Given the description of an element on the screen output the (x, y) to click on. 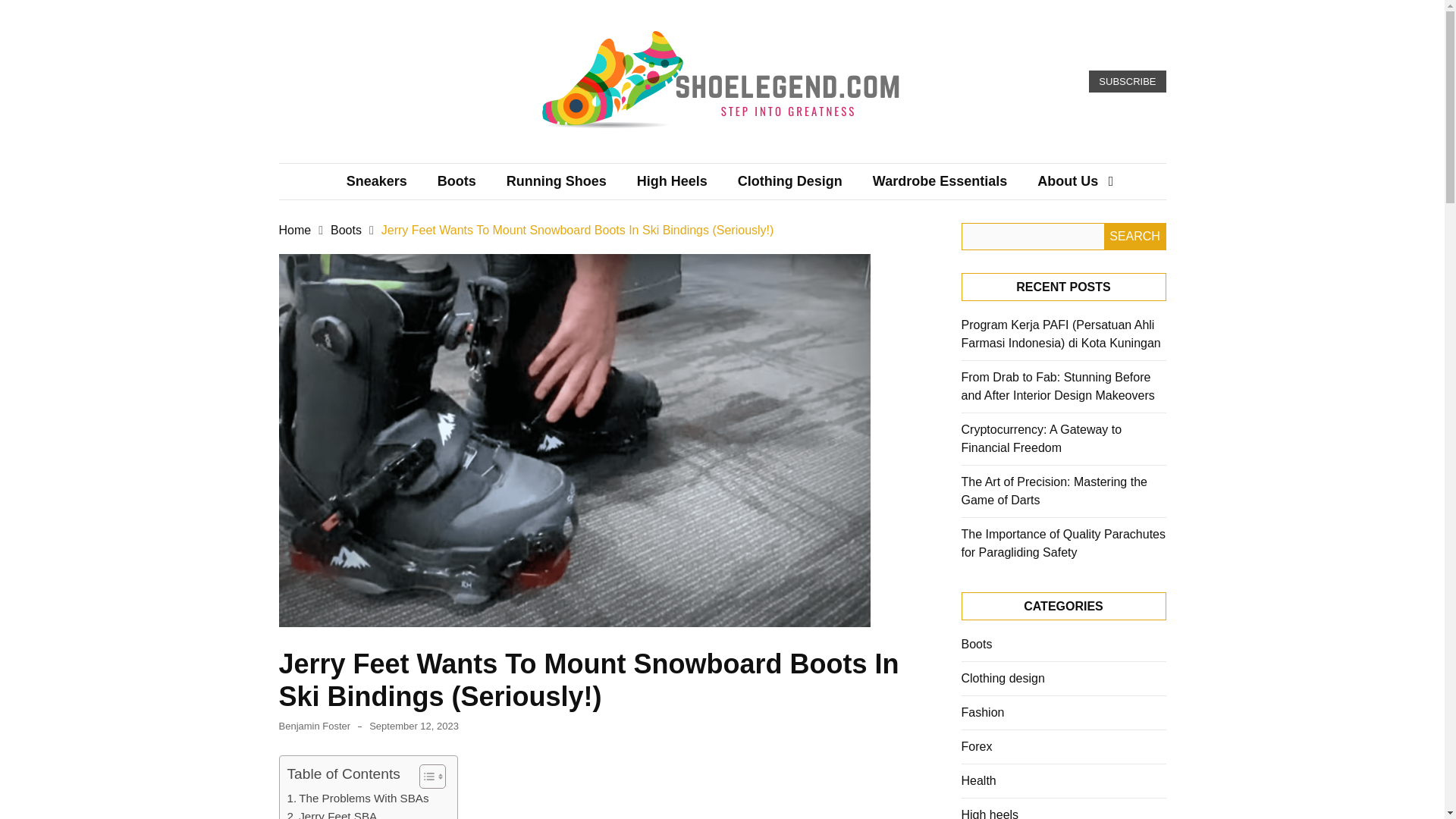
Running Shoes (556, 181)
SUBSCRIBE (1127, 81)
shoe legend (585, 155)
Boots (457, 181)
September 12, 2023 (413, 726)
Home (295, 229)
Jerry Feet SBA (331, 813)
Boots (345, 229)
The Problems With SBAs (357, 798)
Benjamin Foster (314, 726)
About Us (1067, 181)
High Heels (671, 181)
Clothing Design (789, 181)
Sneakers (376, 181)
Wardrobe Essentials (939, 181)
